Given the description of an element on the screen output the (x, y) to click on. 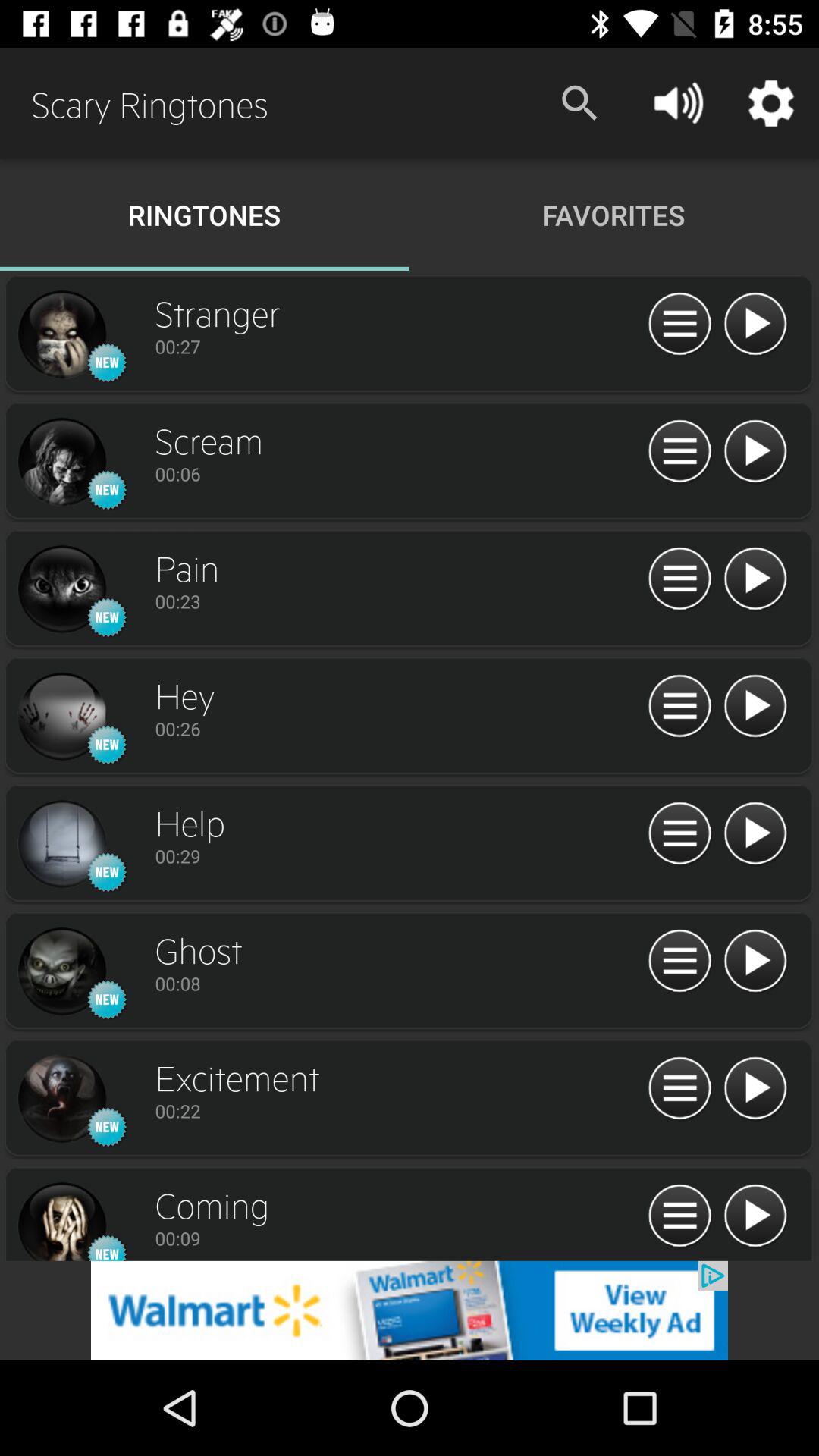
play ringtone option (755, 834)
